Given the description of an element on the screen output the (x, y) to click on. 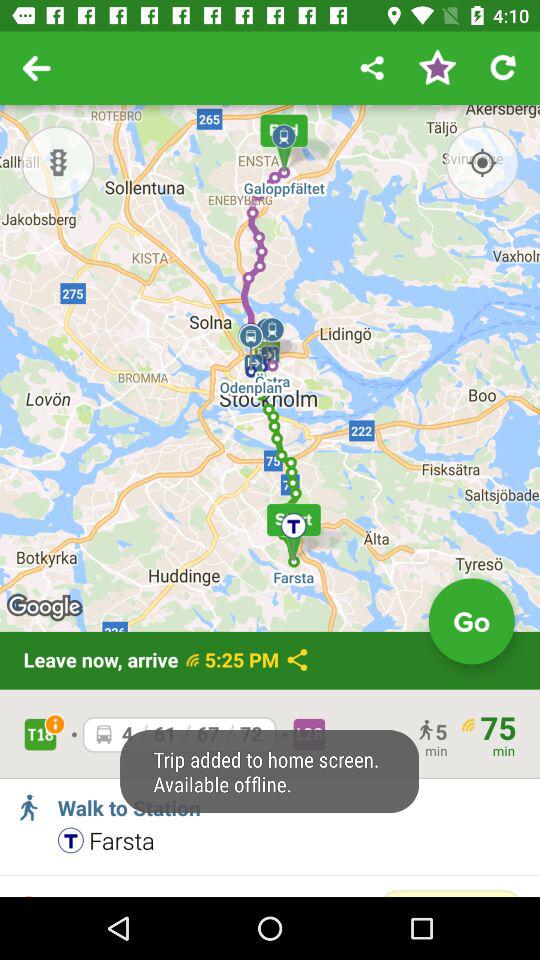
rateing (437, 68)
